Given the description of an element on the screen output the (x, y) to click on. 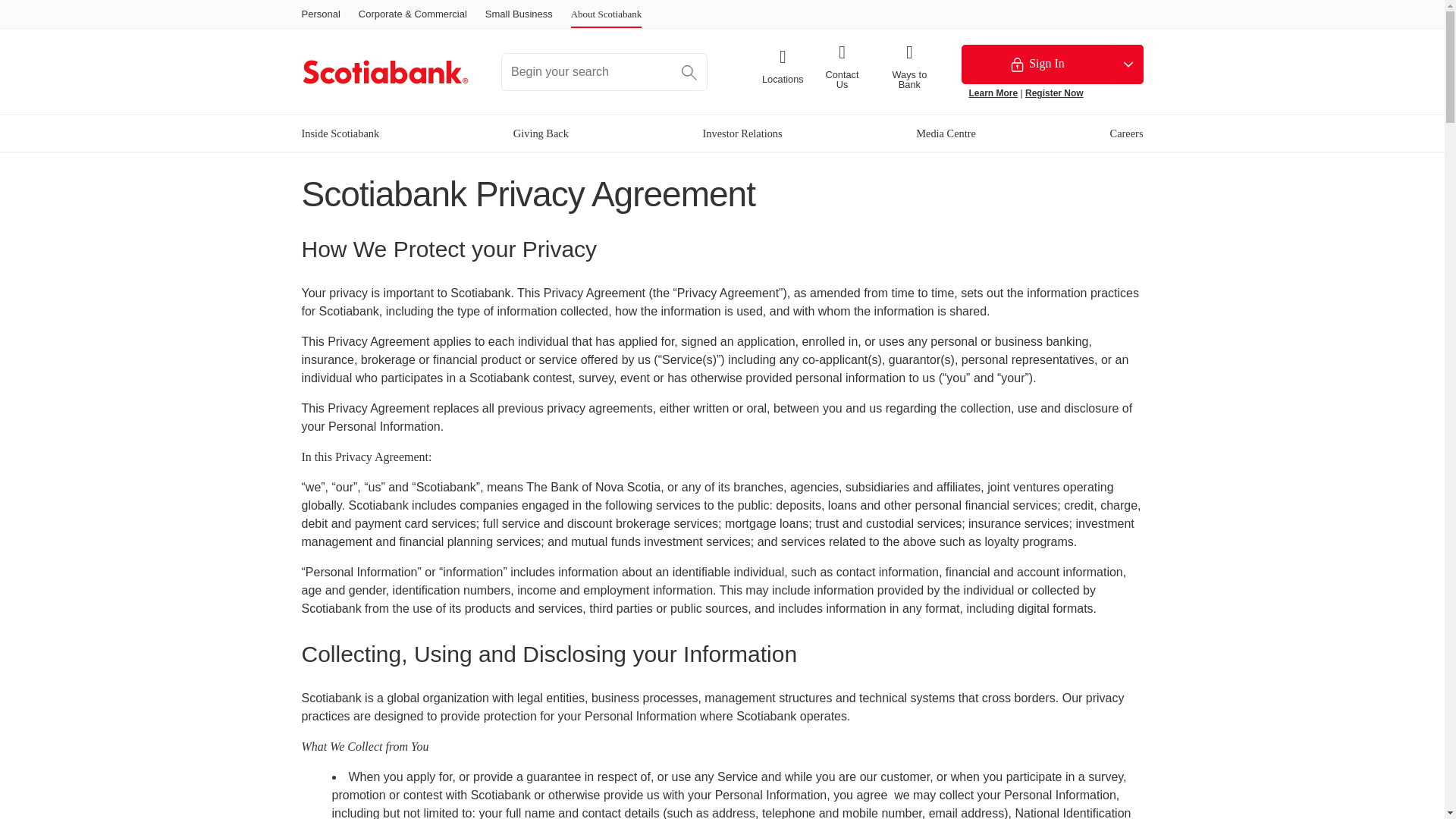
Sign In (1036, 64)
Register Now (1054, 92)
Contact Us (842, 66)
Giving Back (541, 133)
Ways to Bank (908, 66)
Learn More (993, 92)
Careers (1125, 133)
Small Business (518, 13)
Learn More (993, 92)
Media Centre (945, 133)
